Given the description of an element on the screen output the (x, y) to click on. 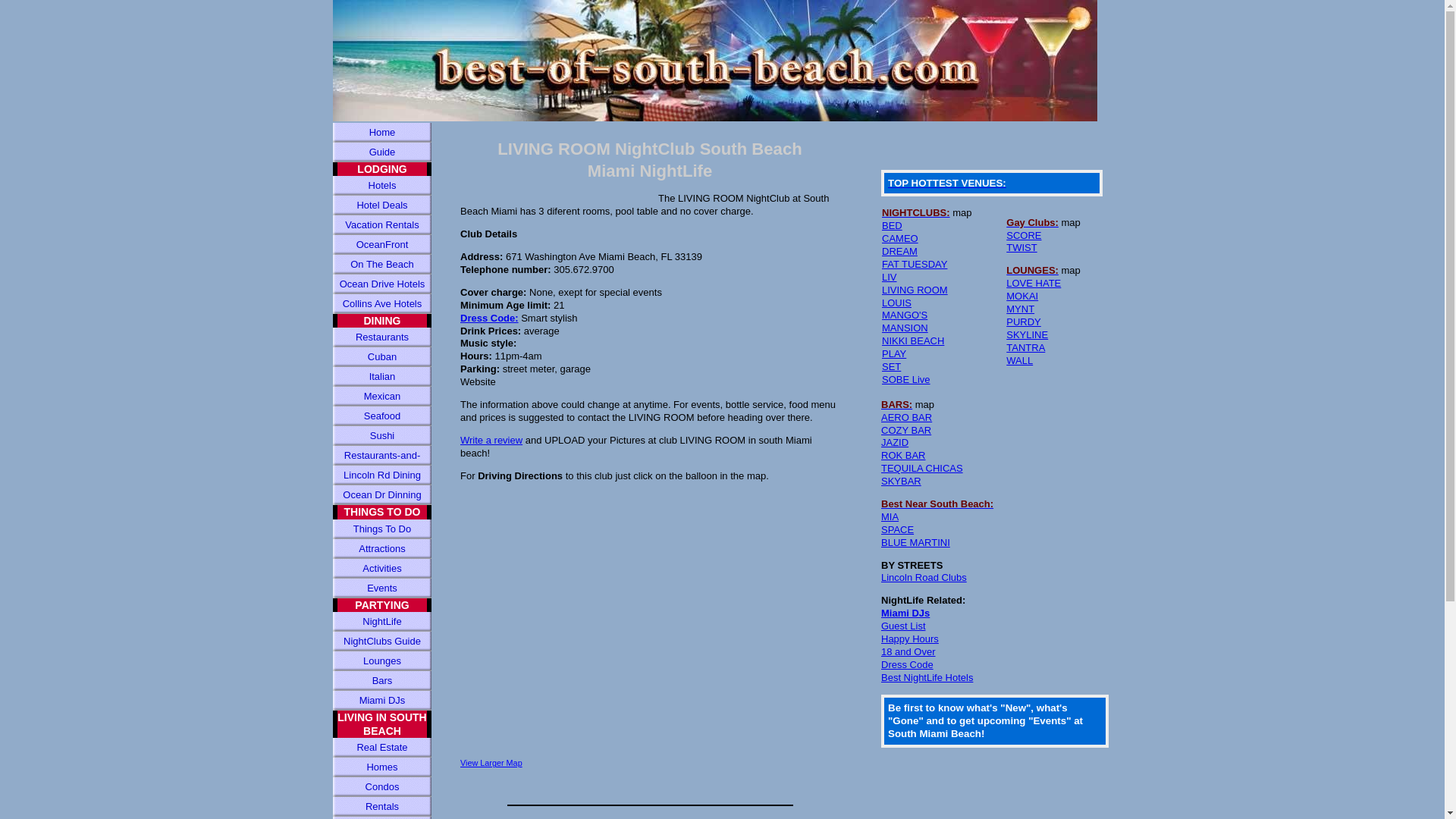
Sushi (381, 435)
NightClubs Guide (381, 641)
Lounges (381, 660)
Lincoln Rd Dining (381, 475)
Condominiums (381, 817)
Miami DJs (381, 700)
Cuban (381, 356)
Seafood (381, 415)
Real Estate (381, 747)
Vacation Rentals (381, 225)
Collins Ave Hotels (381, 303)
Condos (381, 786)
Activities (381, 568)
OceanFront (381, 244)
Things To Do (381, 528)
